Given the description of an element on the screen output the (x, y) to click on. 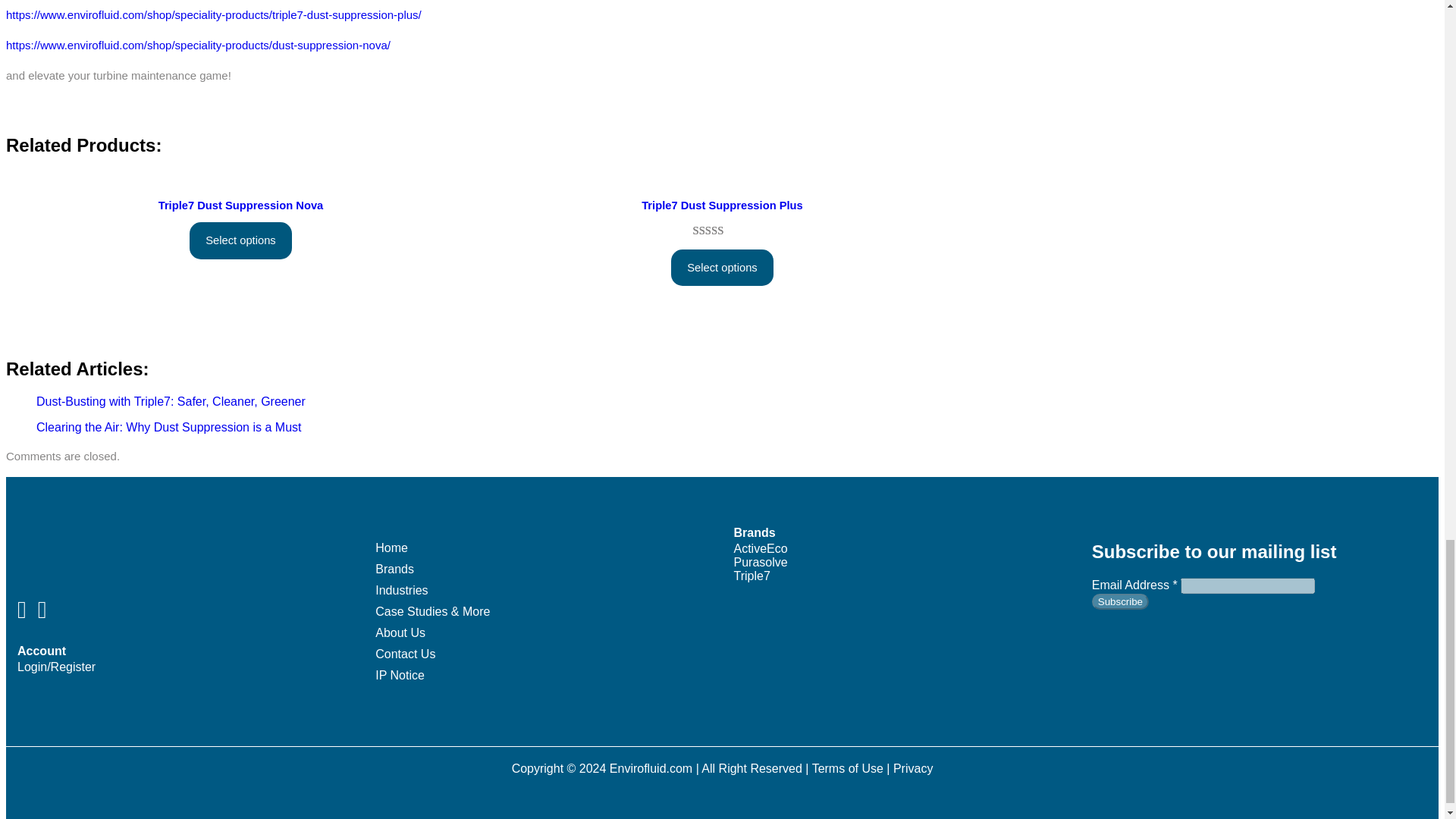
Subscribe (1120, 601)
